Given the description of an element on the screen output the (x, y) to click on. 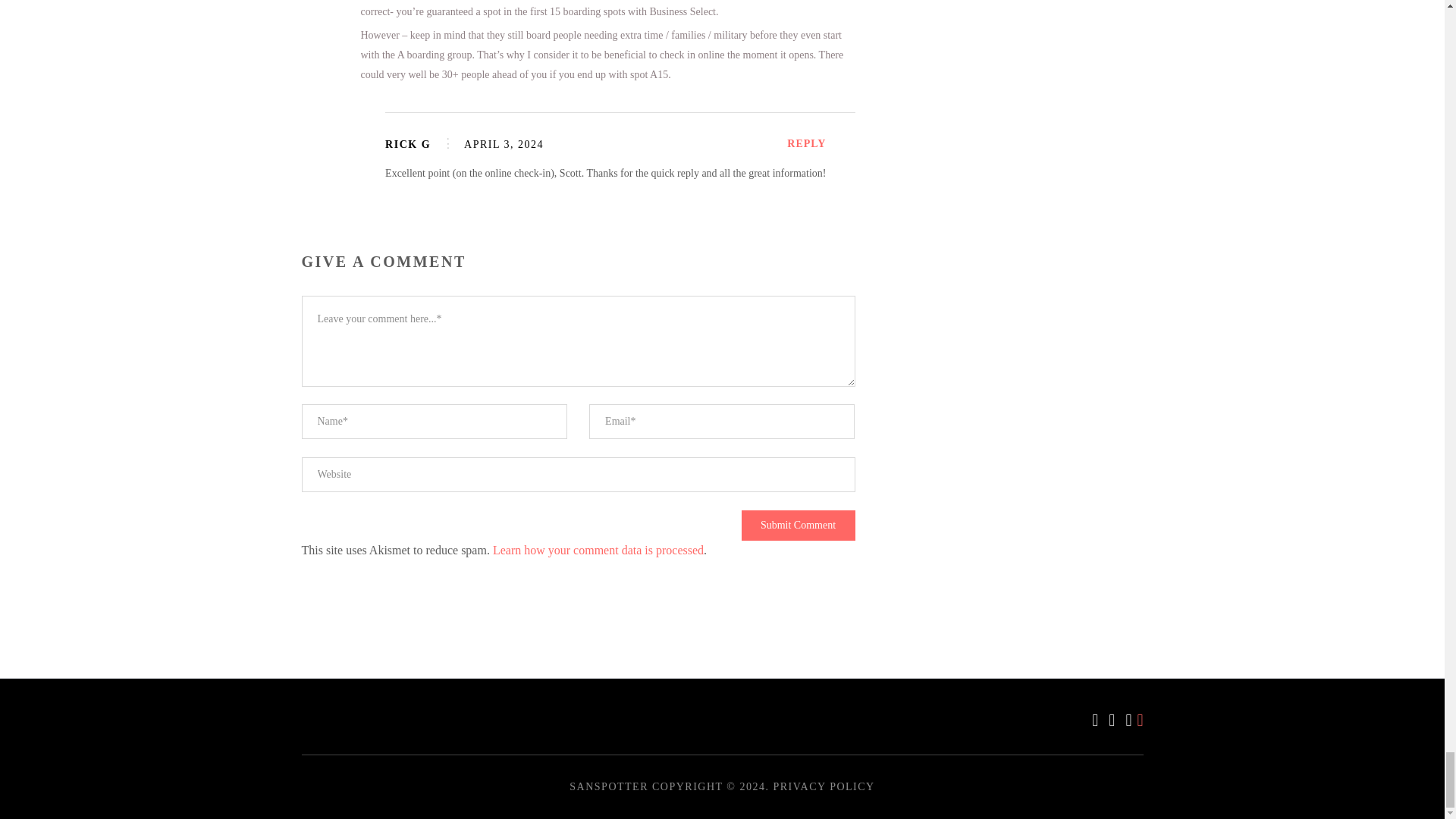
Submit Comment (798, 525)
